Given the description of an element on the screen output the (x, y) to click on. 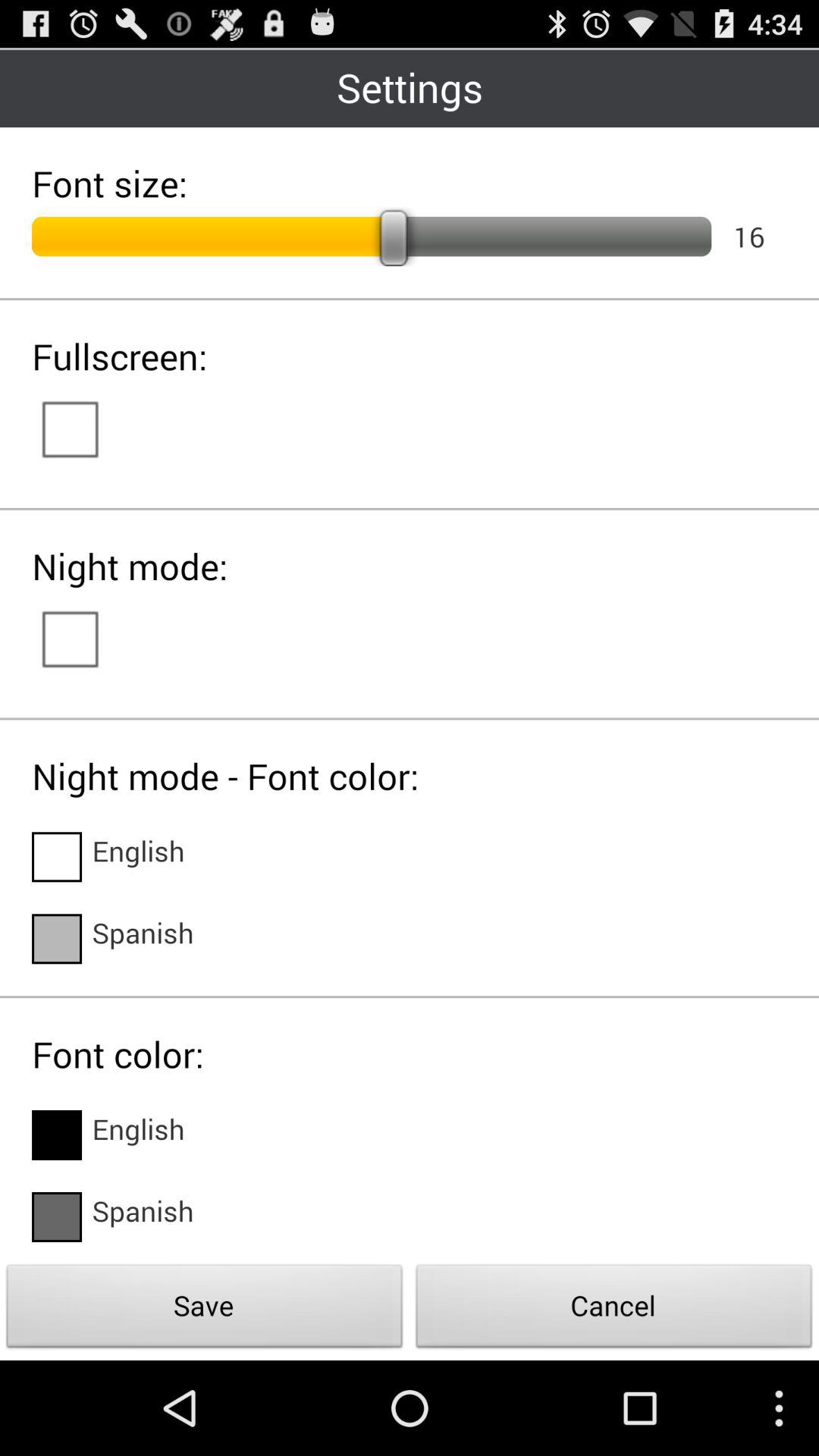
change spanish font color (56, 1217)
